Given the description of an element on the screen output the (x, y) to click on. 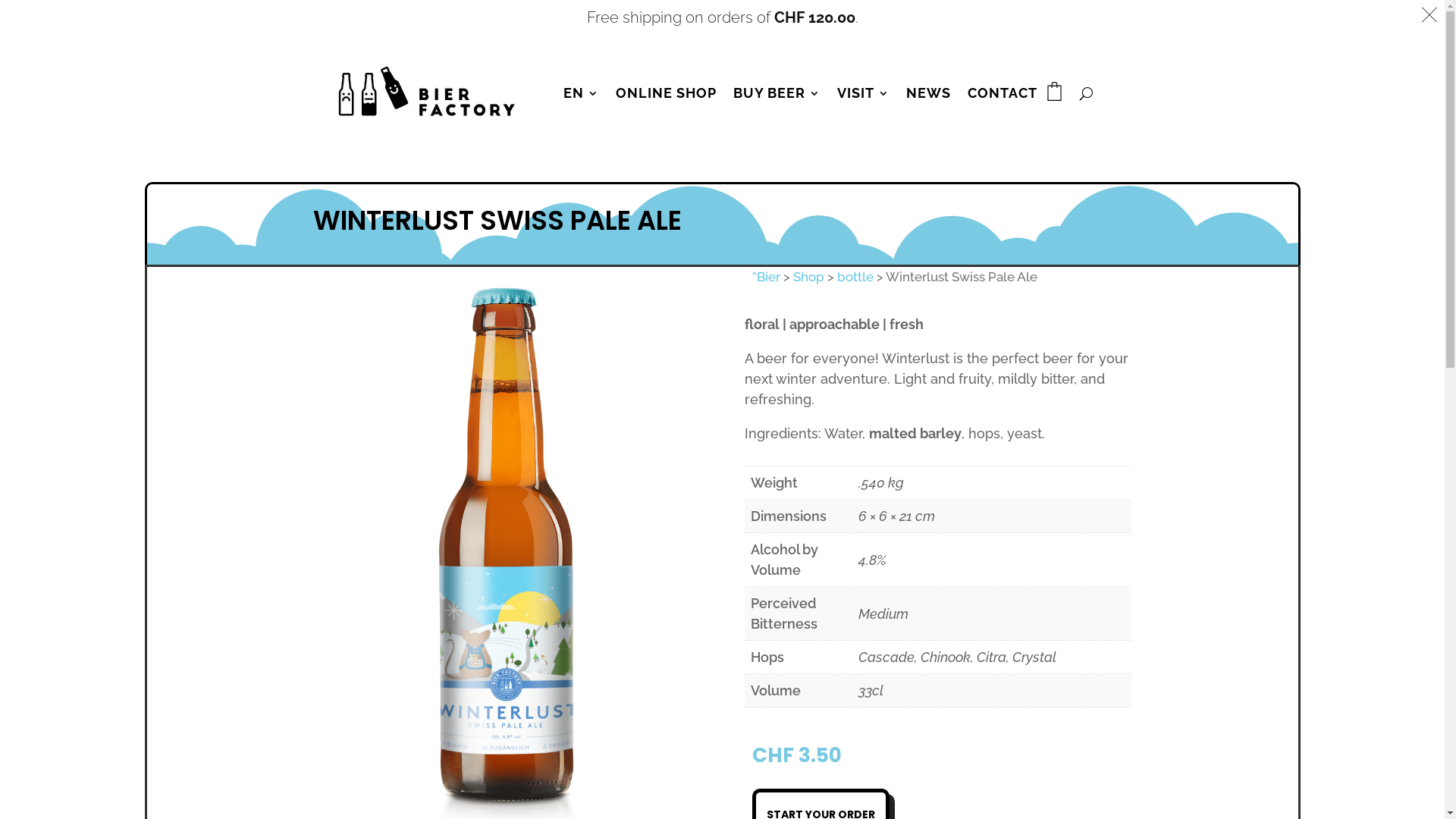
CONTACT Element type: text (1002, 93)
bottle Element type: text (855, 276)
EN Element type: text (580, 93)
VISIT Element type: text (863, 93)
NEWS Element type: text (927, 93)
ONLINE SHOP Element type: text (665, 93)
BUY BEER Element type: text (775, 93)
Shop Element type: text (808, 276)
